Given the description of an element on the screen output the (x, y) to click on. 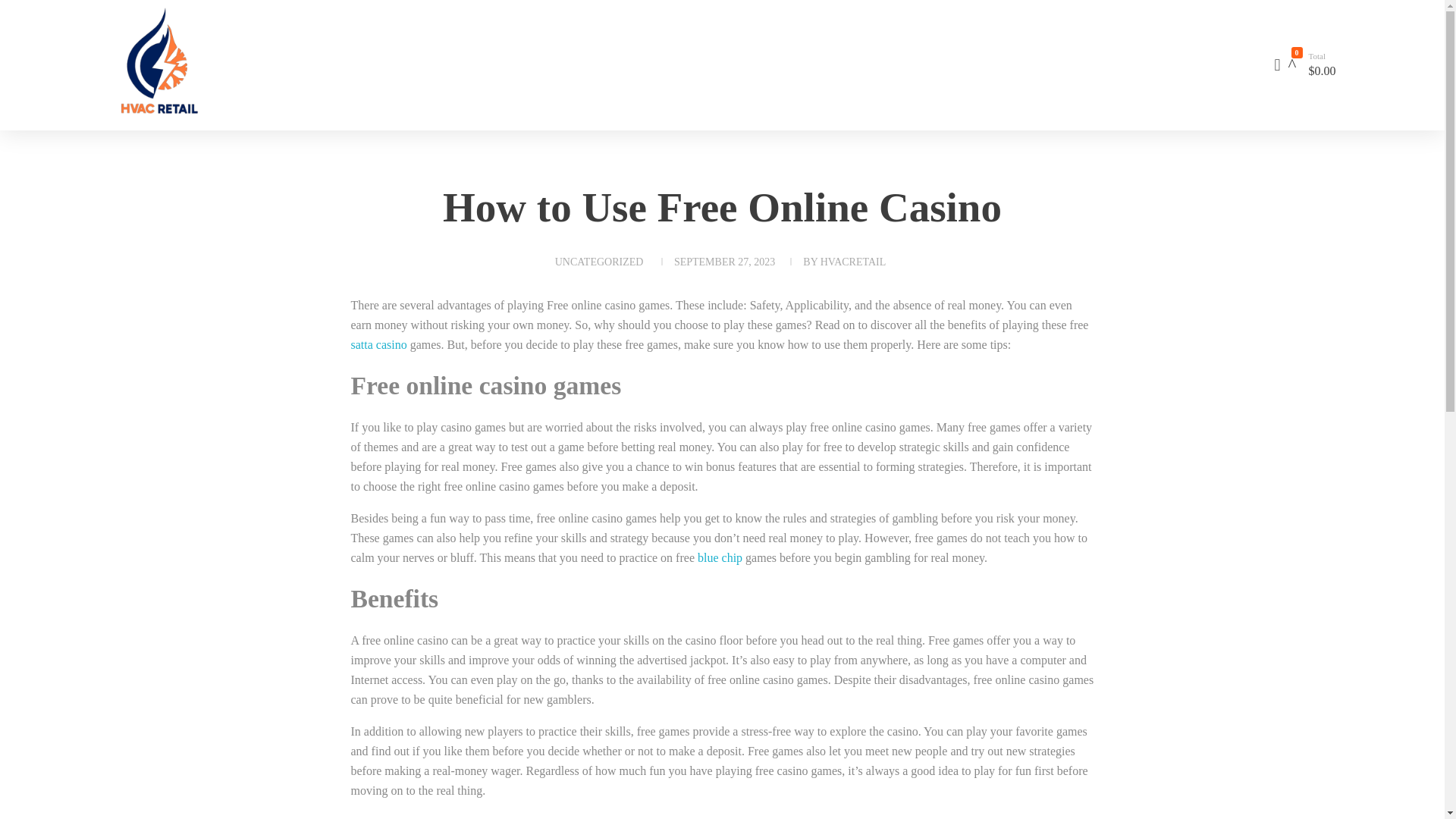
HVAC Retail (148, 126)
View all posts in Uncategorized (598, 261)
blue chip (719, 557)
HVACRETAIL (853, 261)
UNCATEGORIZED (598, 261)
HVAC Retail (148, 126)
satta casino (378, 344)
View all posts by HVACRetail (853, 261)
HVAC Retail (244, 62)
